Given the description of an element on the screen output the (x, y) to click on. 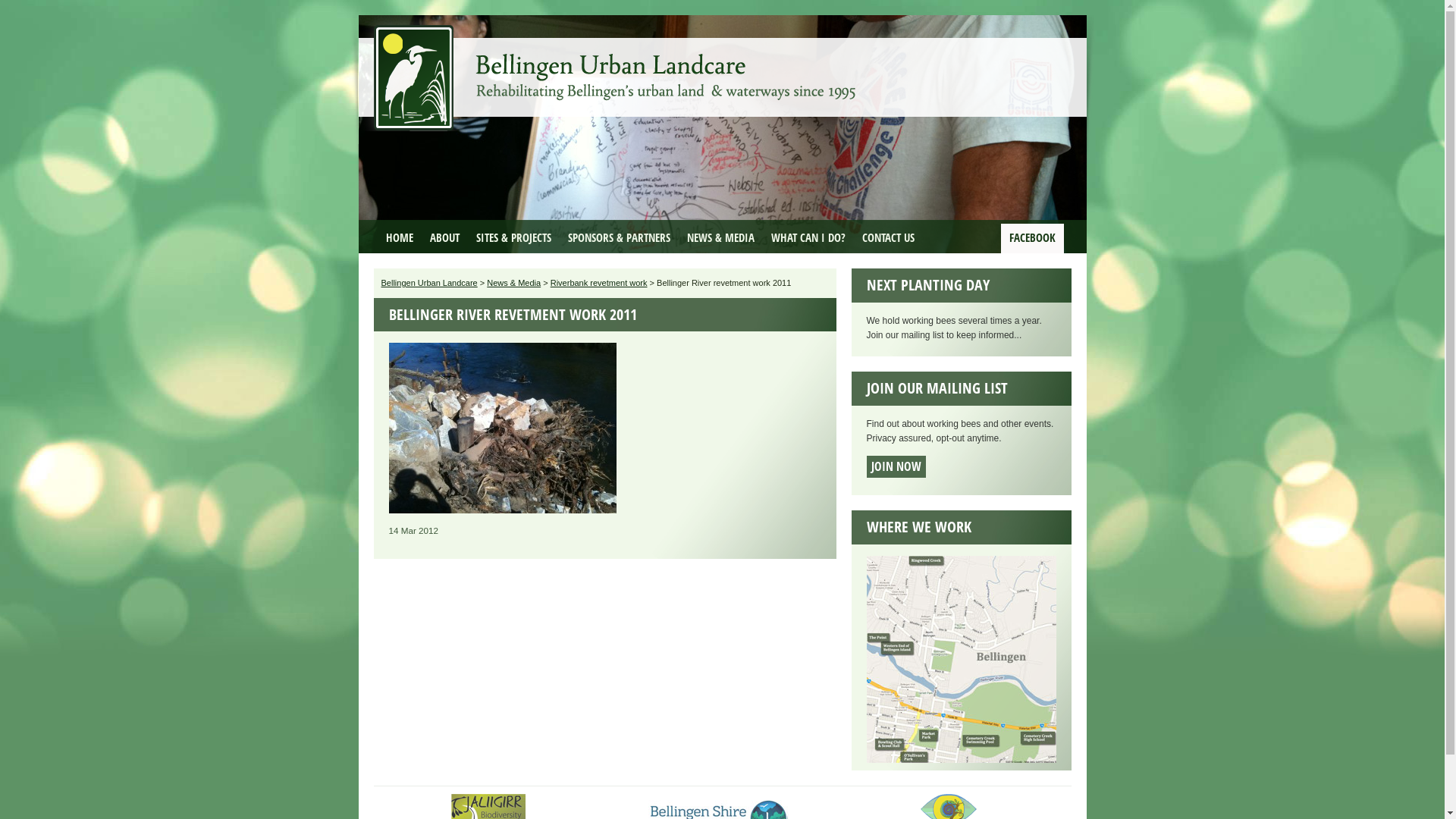
SITES & PROJECTS Element type: text (512, 238)
Riverbank revetment work Element type: text (598, 282)
News & Media Element type: text (513, 282)
WHAT CAN I DO? Element type: text (807, 238)
Bellingen Urban Landcare Element type: text (428, 282)
CONTACT US Element type: text (887, 238)
NEWS & MEDIA Element type: text (719, 238)
HOME Element type: text (399, 238)
Click to see our work sites Element type: hover (960, 759)
FACEBOOK Element type: text (1032, 238)
SPONSORS & PARTNERS Element type: text (618, 238)
Bellingen Urban Landcare Element type: text (615, 66)
ABOUT Element type: text (444, 238)
JOIN NOW Element type: text (895, 466)
